Given the description of an element on the screen output the (x, y) to click on. 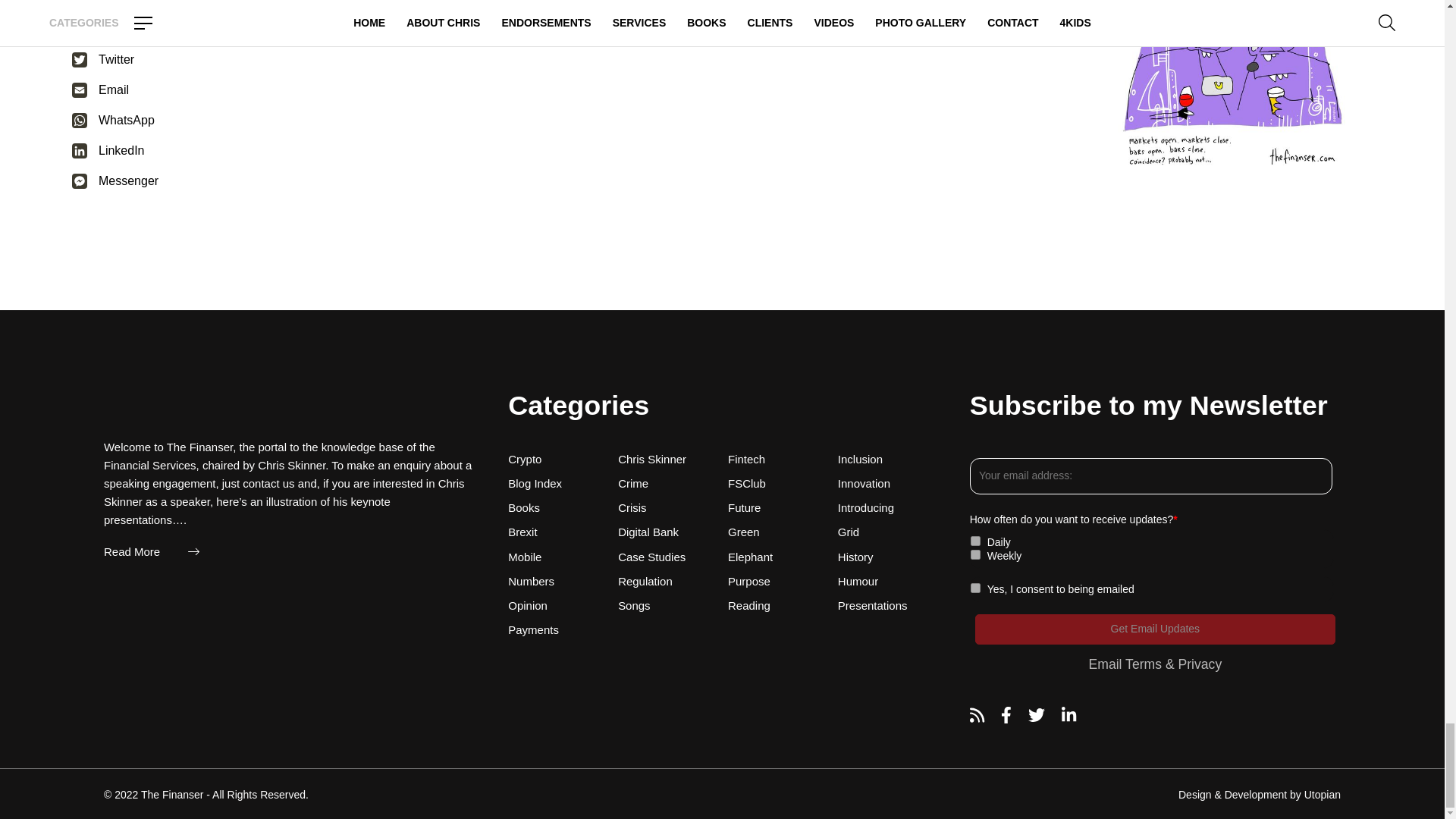
Get Email Updates (1155, 629)
daily (975, 541)
weekly (975, 554)
accepted (975, 587)
